Given the description of an element on the screen output the (x, y) to click on. 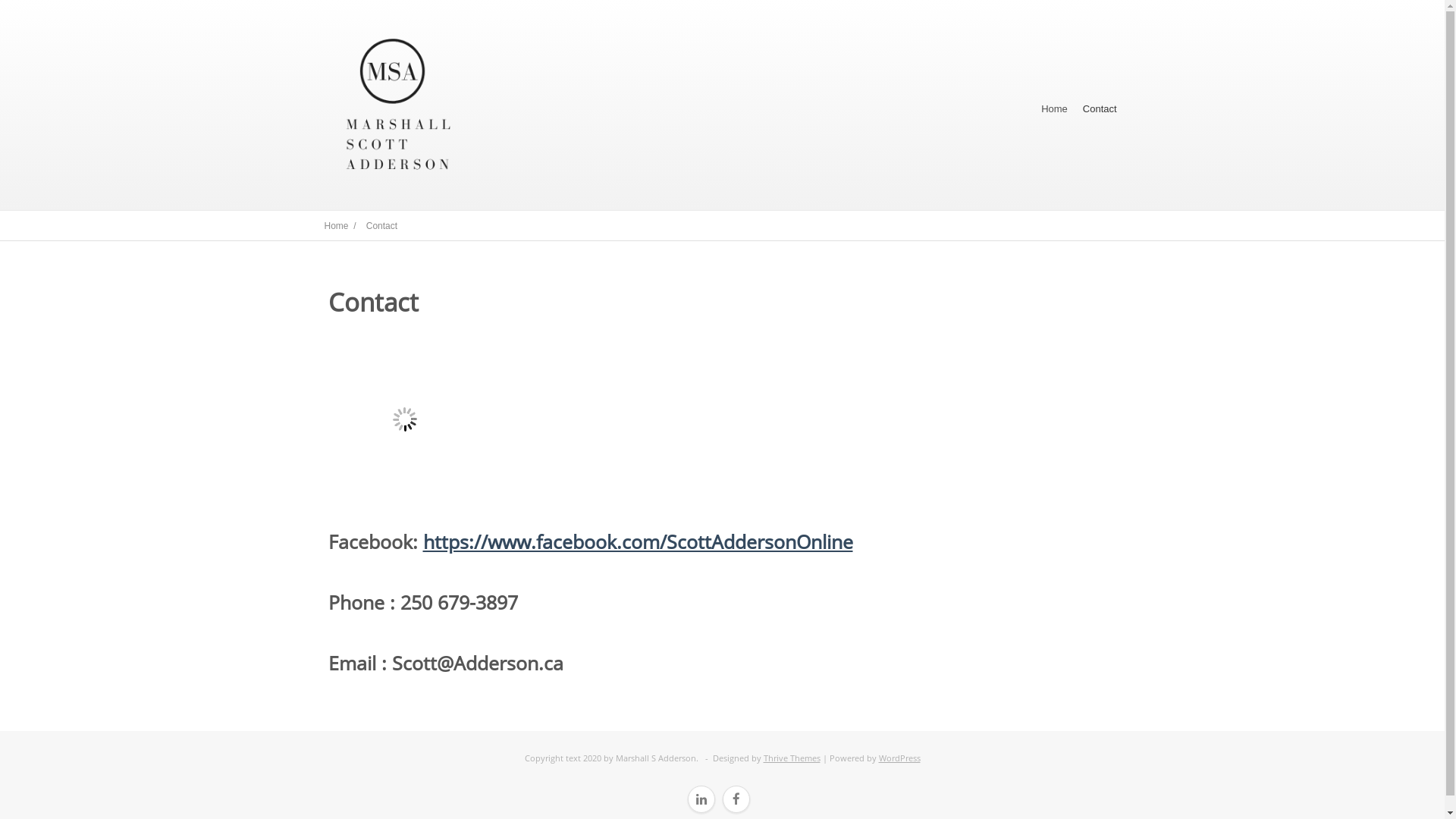
Home Element type: text (1054, 108)
WordPress Element type: text (898, 757)
https://www.facebook.com/ScottAddersonOnline Element type: text (638, 541)
Scott A Element type: hover (404, 419)
Home  /  Element type: text (340, 225)
Contact Element type: text (1099, 108)
Thrive Themes Element type: text (790, 757)
